Given the description of an element on the screen output the (x, y) to click on. 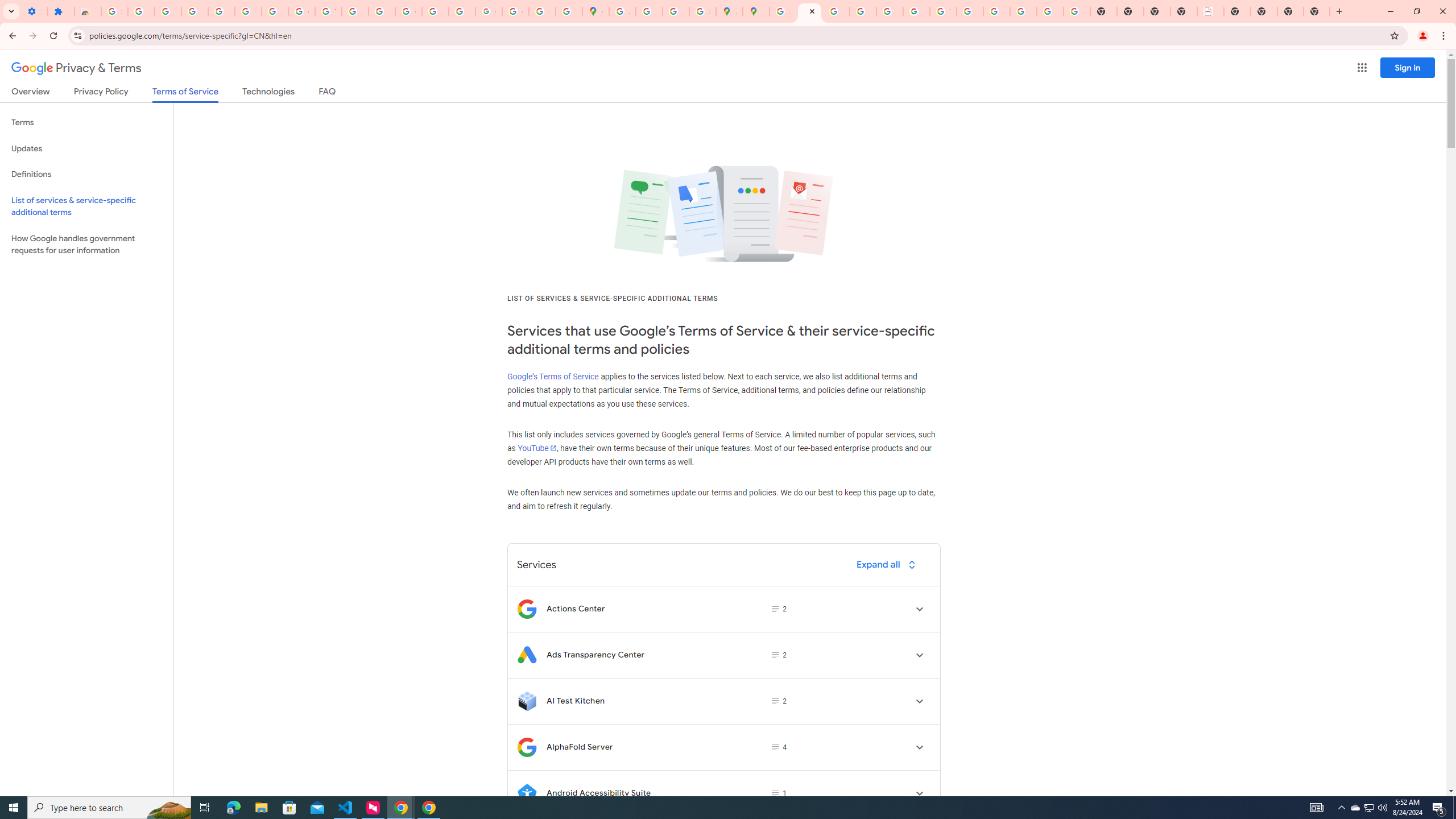
Sign in - Google Accounts (114, 11)
YouTube (328, 11)
Logo for Actions Center (526, 608)
Privacy Help Center - Policies Help (836, 11)
Logo for AlphaFold Server (526, 746)
Google Maps (595, 11)
Google Account (301, 11)
Safety in Our Products - Google Safety Center (702, 11)
Reviews: Helix Fruit Jump Arcade Game (87, 11)
